Given the description of an element on the screen output the (x, y) to click on. 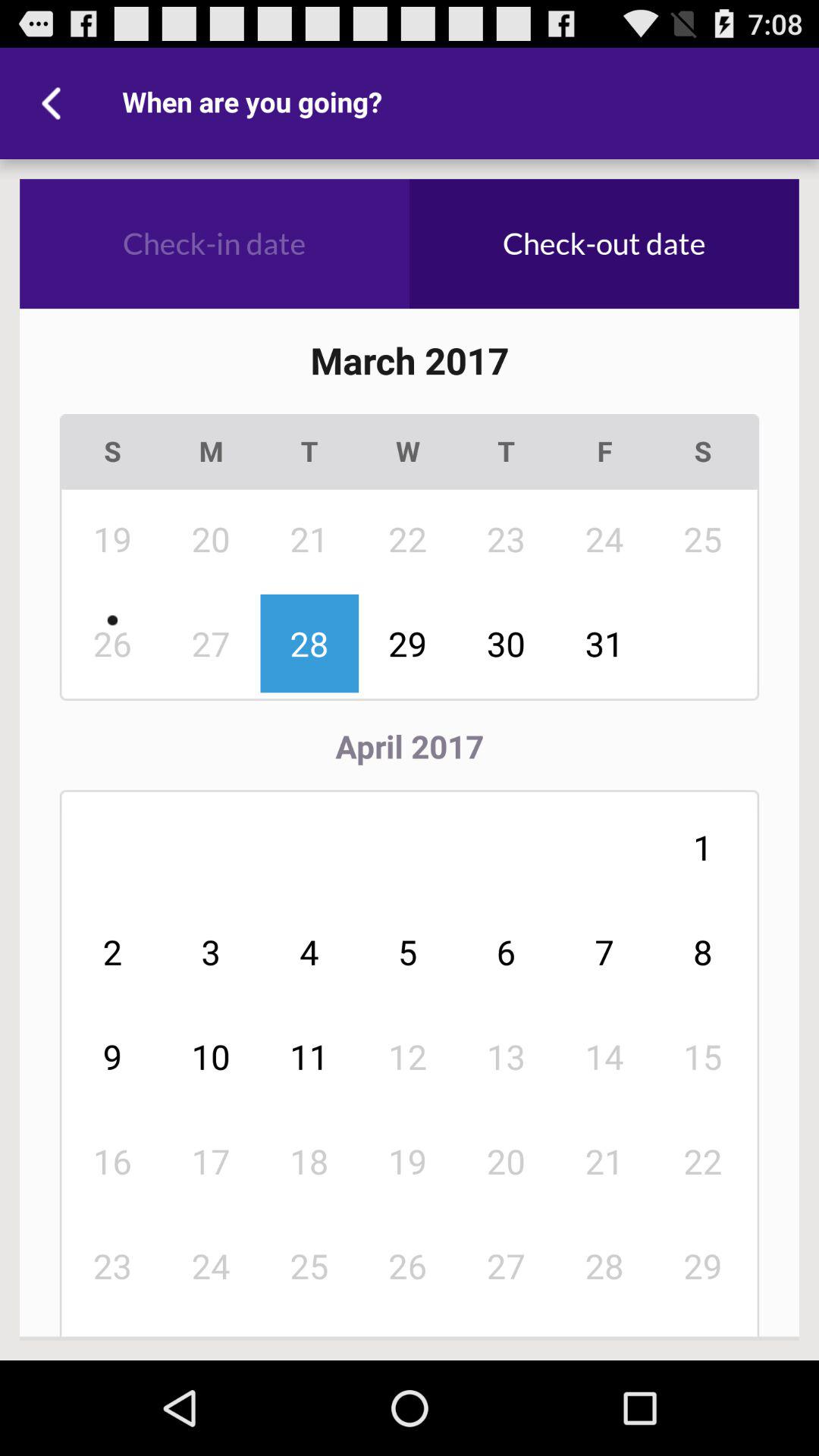
choose item below 31 icon (703, 951)
